Given the description of an element on the screen output the (x, y) to click on. 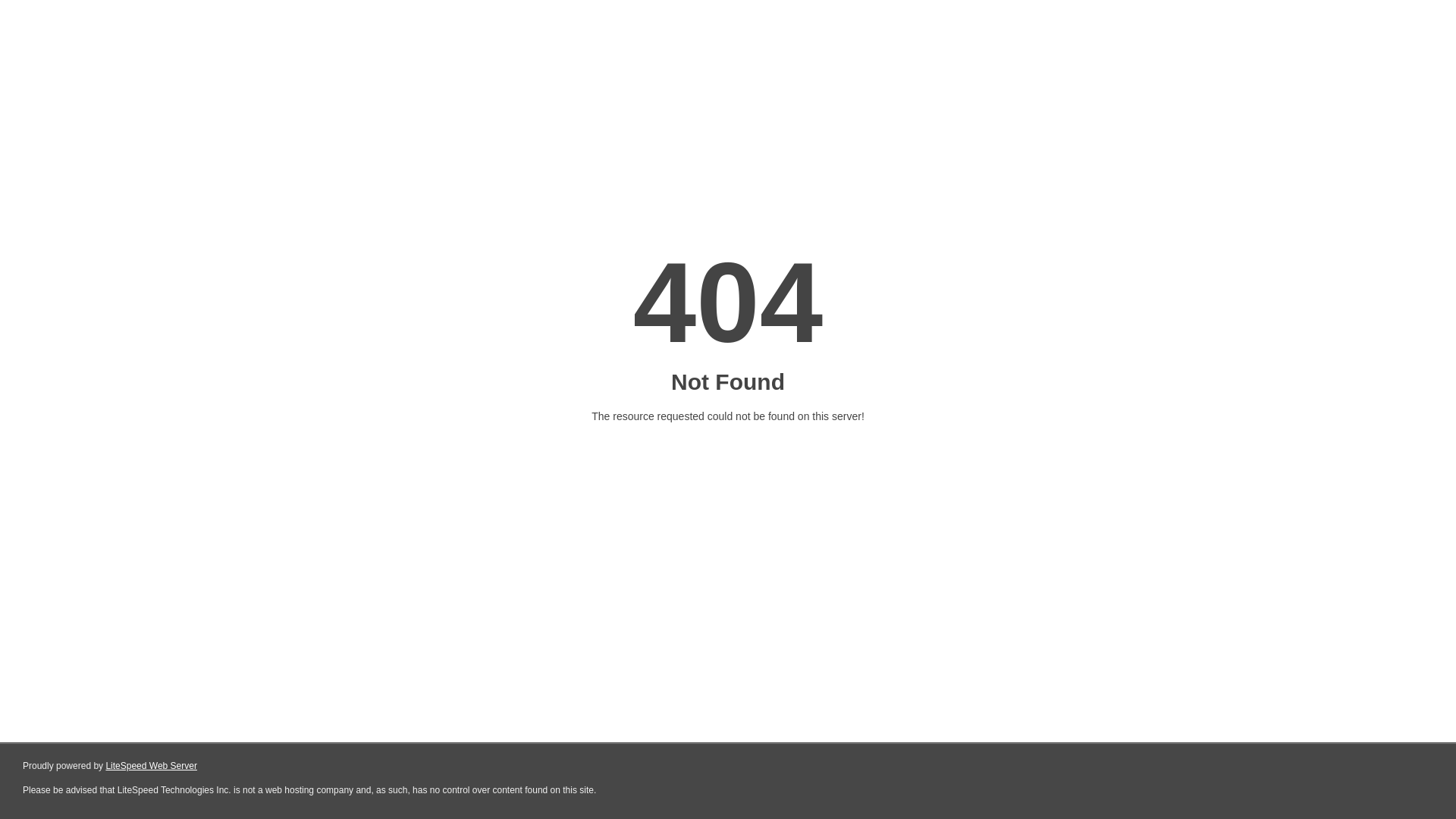
LiteSpeed Web Server Element type: text (151, 765)
